Given the description of an element on the screen output the (x, y) to click on. 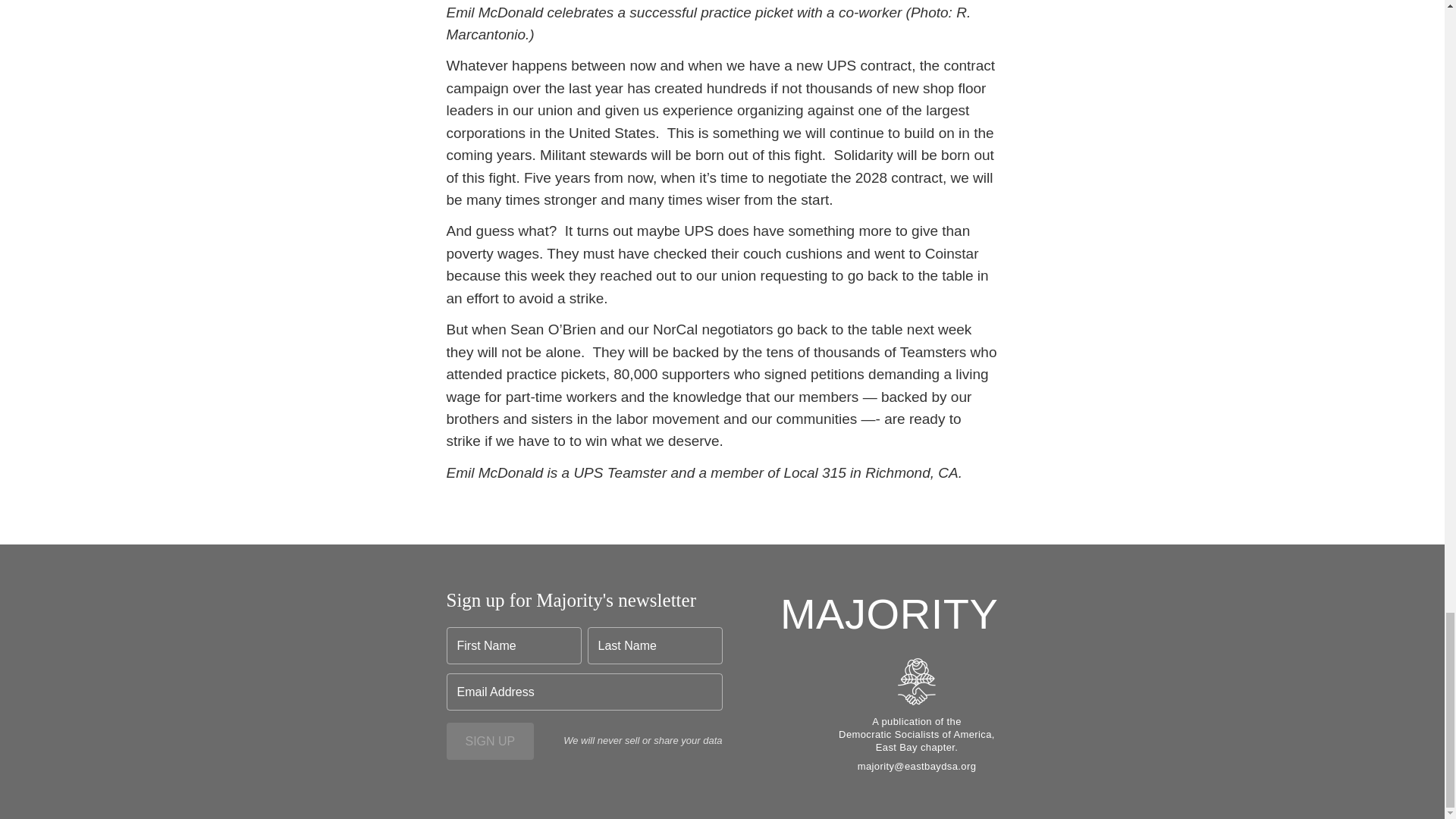
MAJORITY (889, 613)
SIGN UP (489, 741)
